Given the description of an element on the screen output the (x, y) to click on. 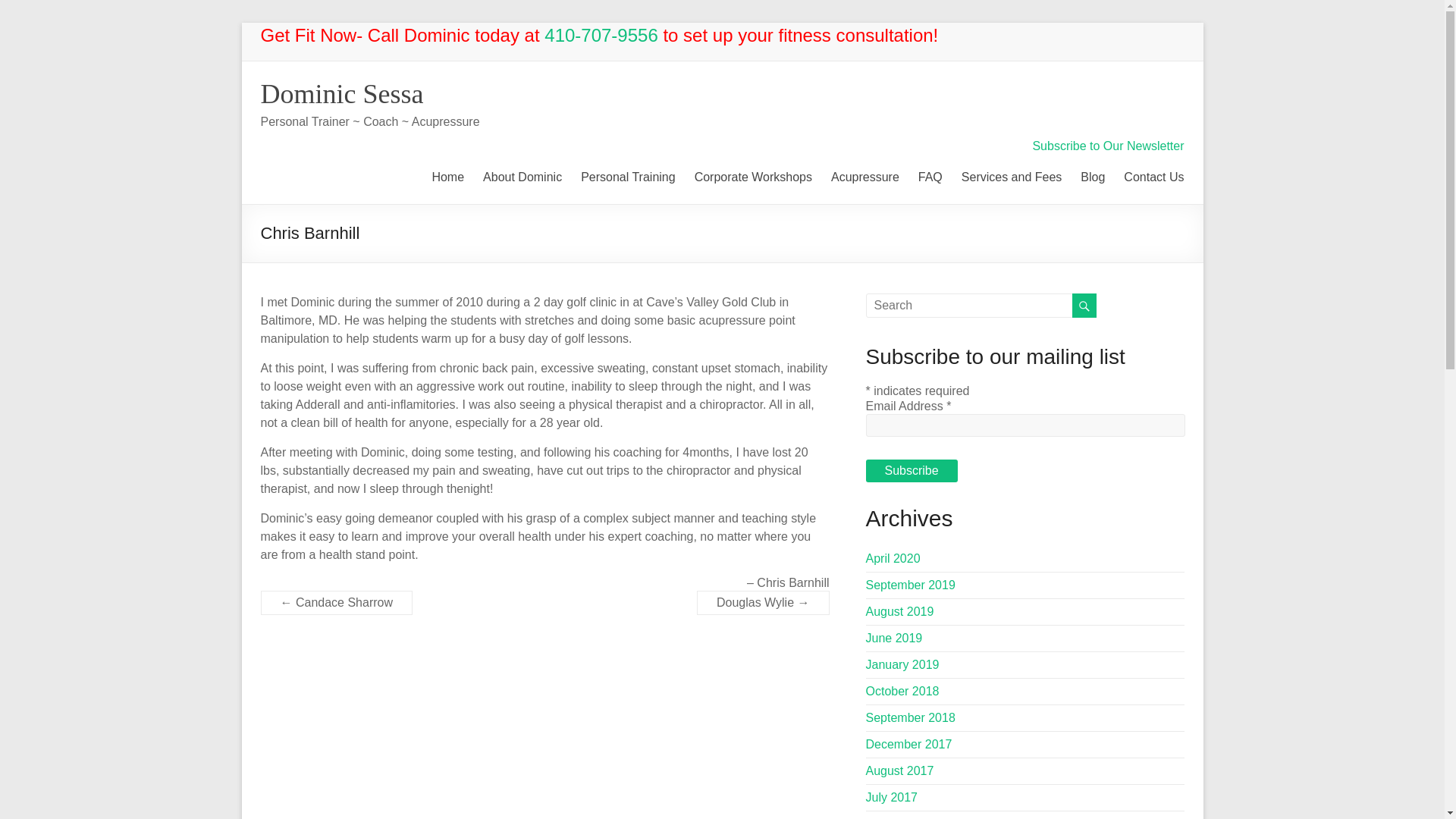
Personal Training (627, 175)
Services and Fees (1011, 175)
Home (447, 175)
September 2018 (910, 717)
April 2020 (893, 558)
Subscribe (912, 470)
Subscribe (912, 470)
Dominic Sessa (341, 93)
Subscribe to Our Newsletter (1107, 145)
410-707-9556 (601, 35)
